Given the description of an element on the screen output the (x, y) to click on. 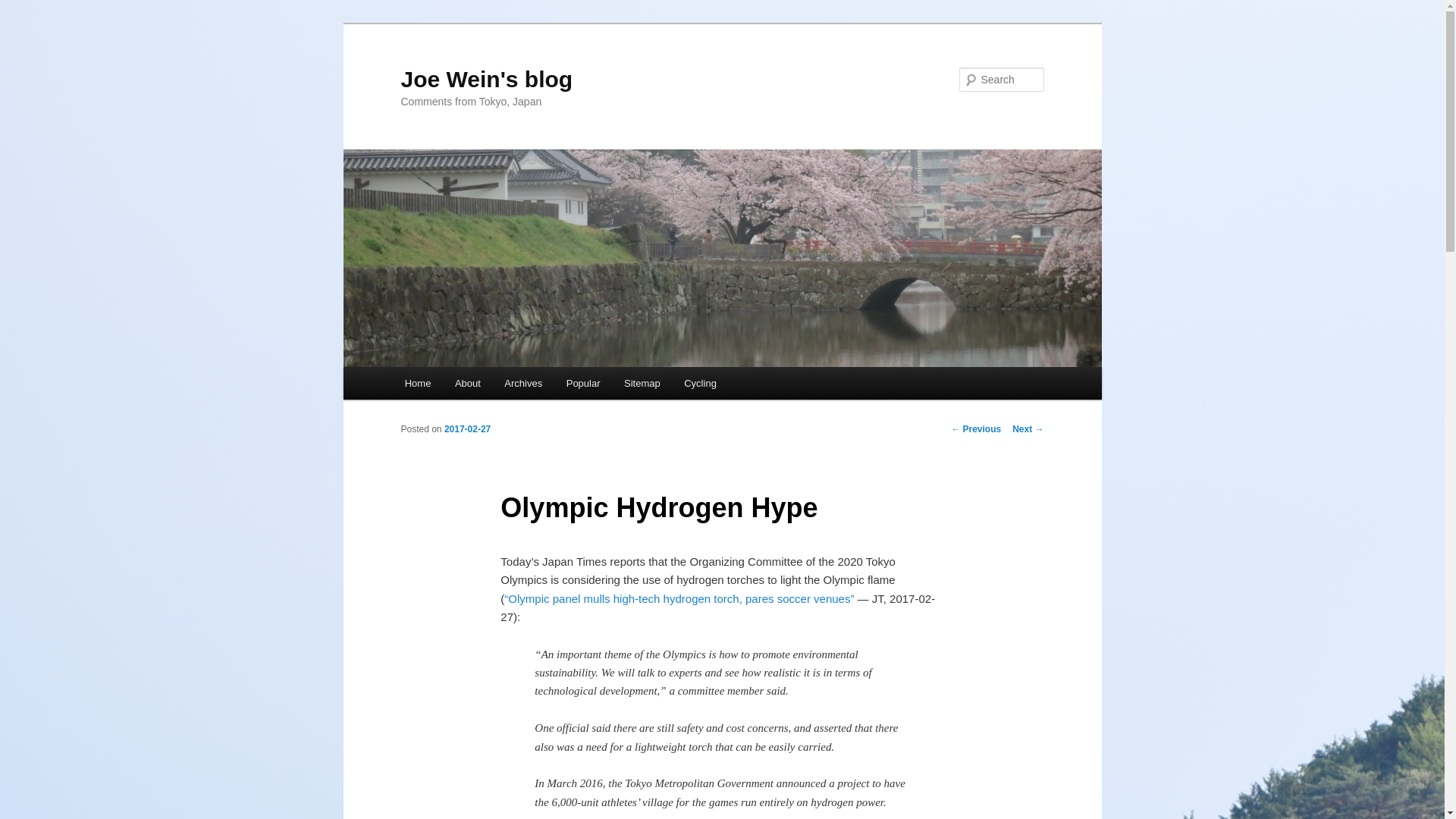
Search (24, 8)
Archives (523, 382)
Popular (582, 382)
16:40 (467, 429)
Home (417, 382)
Cycling (699, 382)
Sitemap (641, 382)
About (467, 382)
2017-02-27 (467, 429)
